Given the description of an element on the screen output the (x, y) to click on. 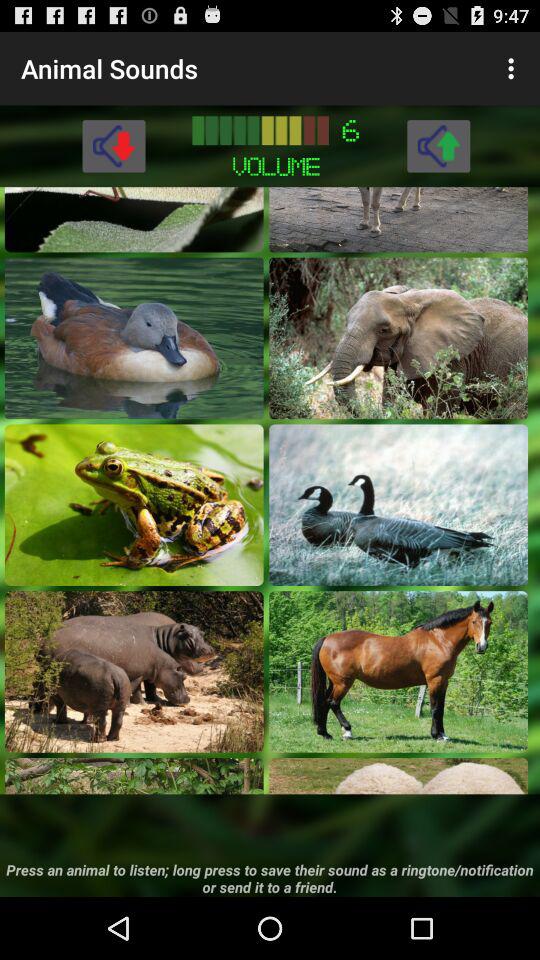
click animal to listen to sound (133, 504)
